Given the description of an element on the screen output the (x, y) to click on. 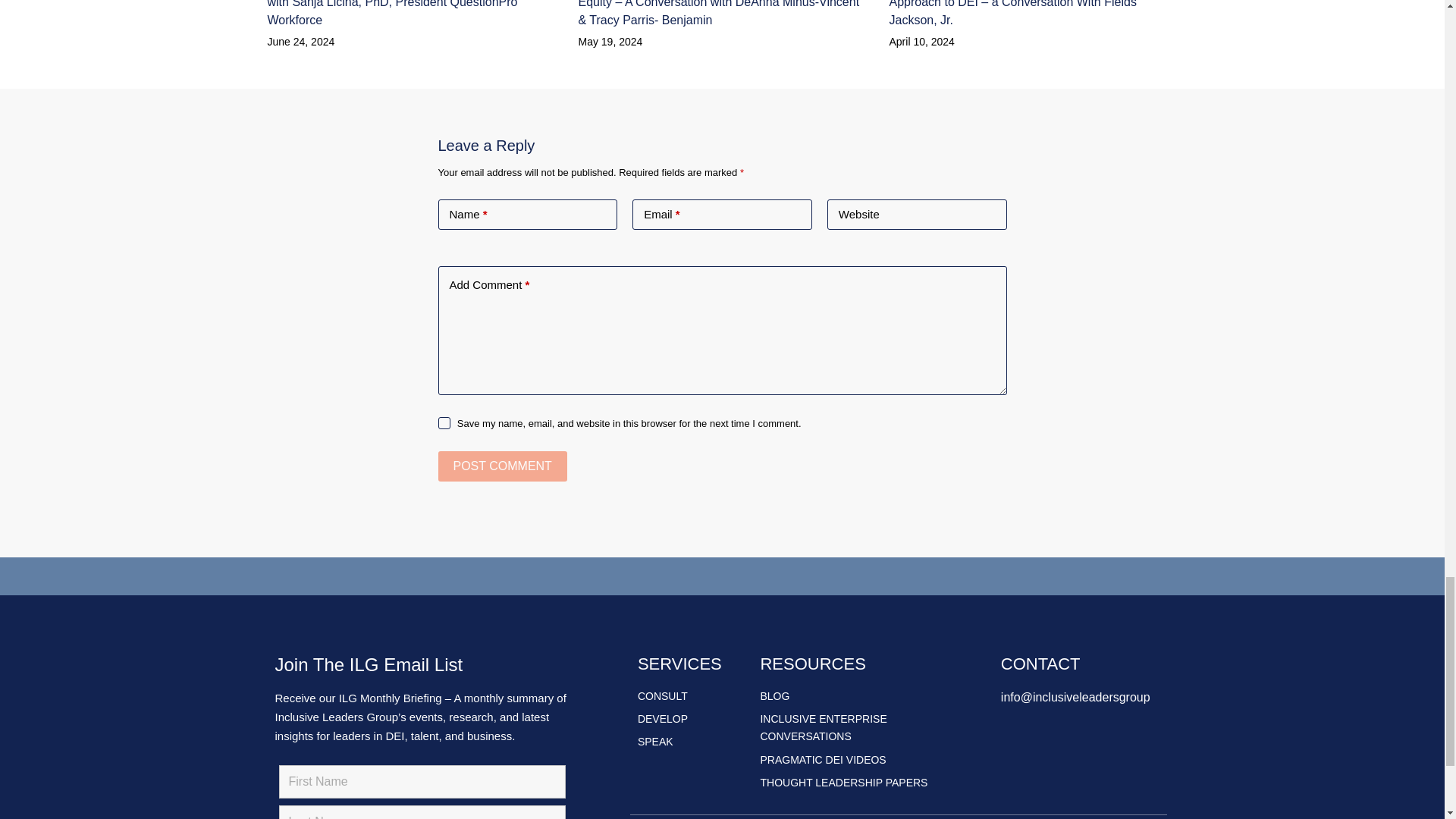
yes (443, 422)
